Given the description of an element on the screen output the (x, y) to click on. 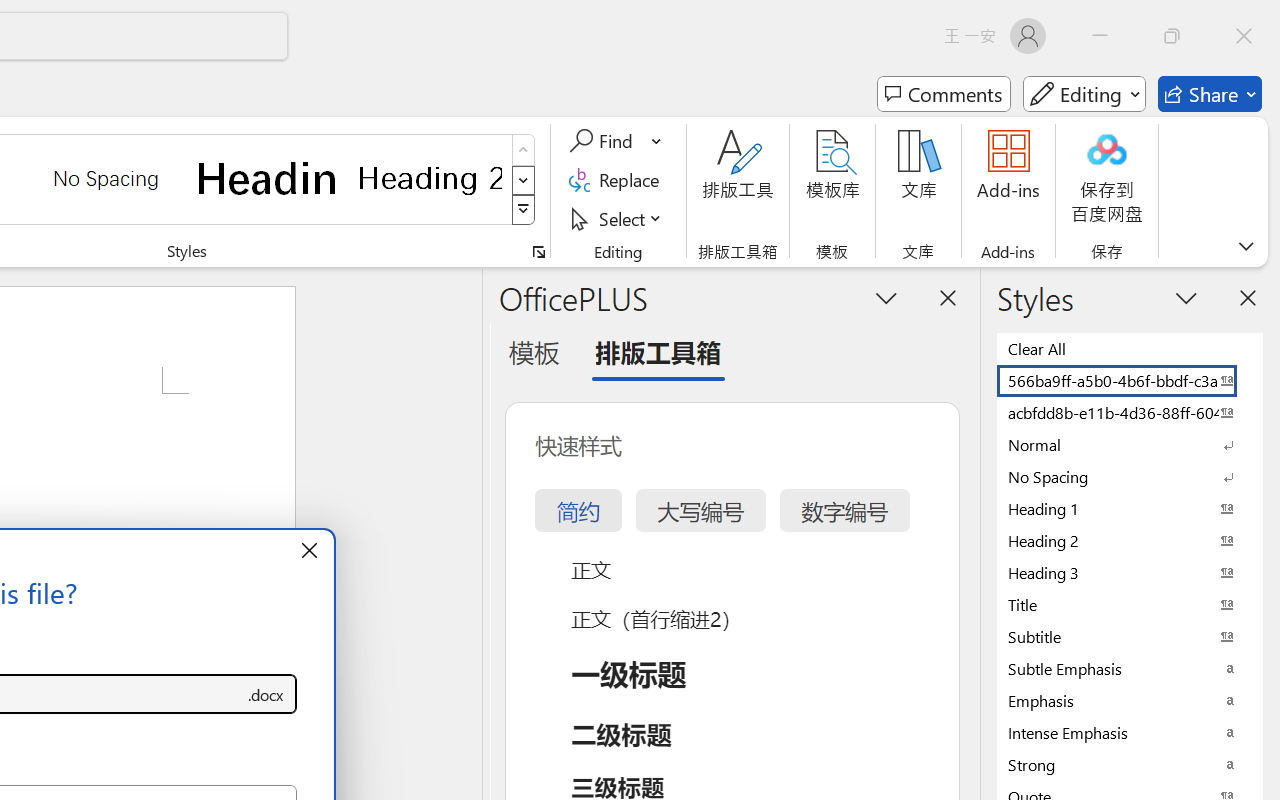
Ribbon Display Options (1246, 245)
Replace... (617, 179)
Save as type (265, 694)
